Given the description of an element on the screen output the (x, y) to click on. 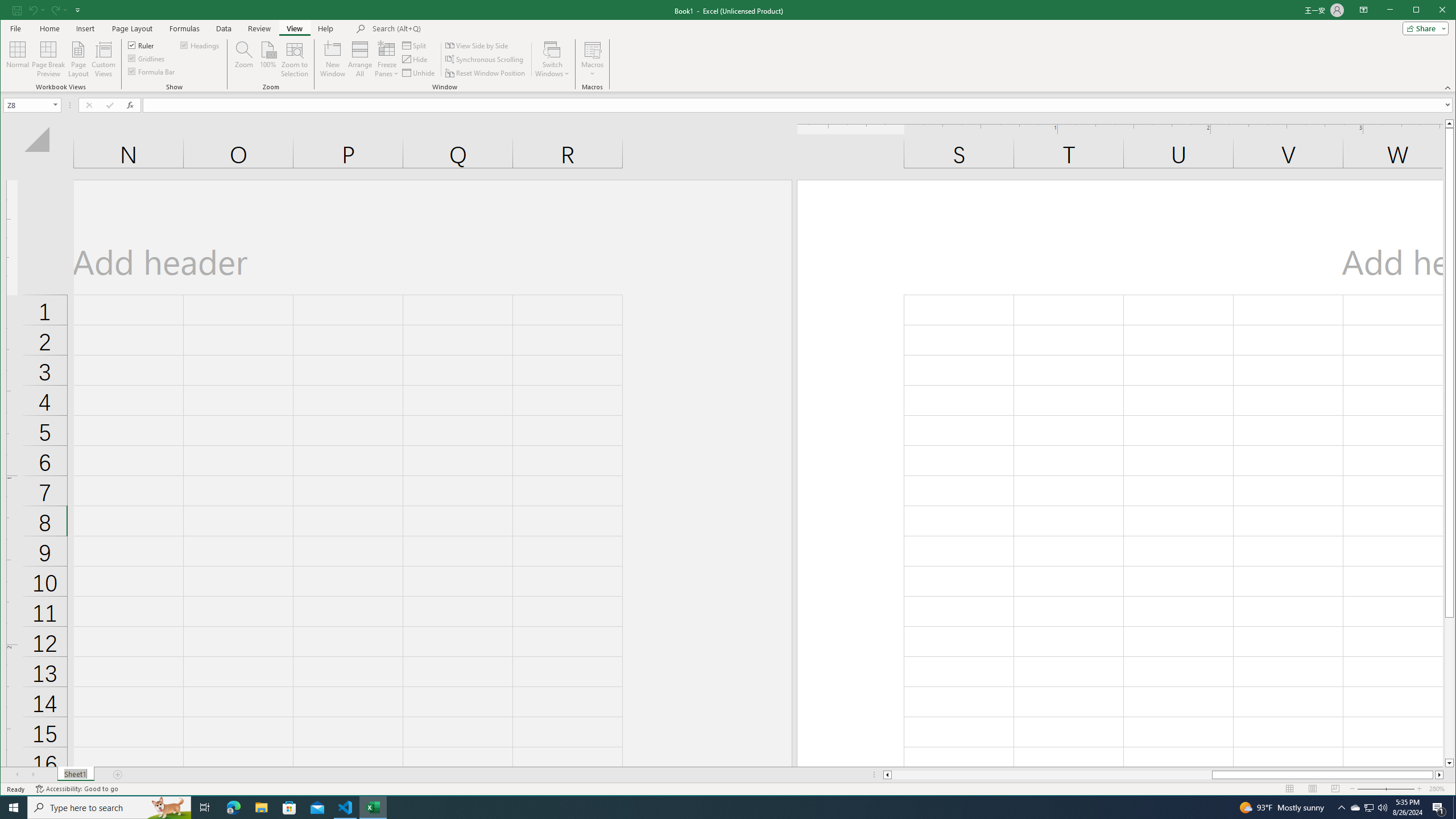
Custom Views... (103, 59)
Page Break Preview (48, 59)
Line up (1449, 122)
Save (16, 9)
Unhide... (419, 72)
Macros (592, 59)
Scroll Left (18, 774)
Excel - 1 running window (373, 807)
Line down (1449, 763)
Undo (32, 9)
Sheet1 (75, 774)
Normal (17, 59)
Class: NetUIScrollBar (1163, 774)
